Given the description of an element on the screen output the (x, y) to click on. 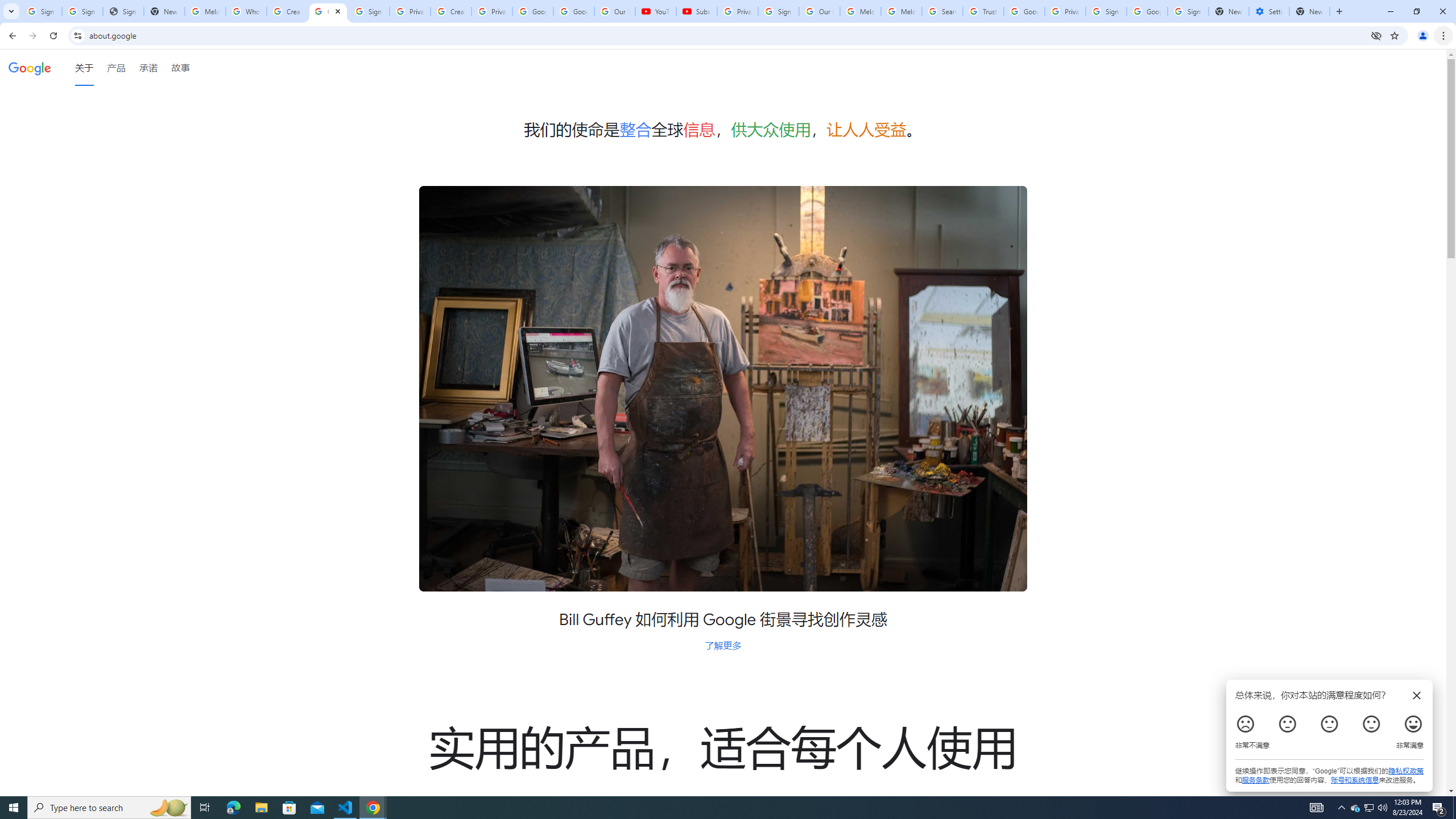
Sign in - Google Accounts (1105, 11)
Sign in - Google Accounts (368, 11)
Google Cybersecurity Innovations - Google Safety Center (1146, 11)
